Given the description of an element on the screen output the (x, y) to click on. 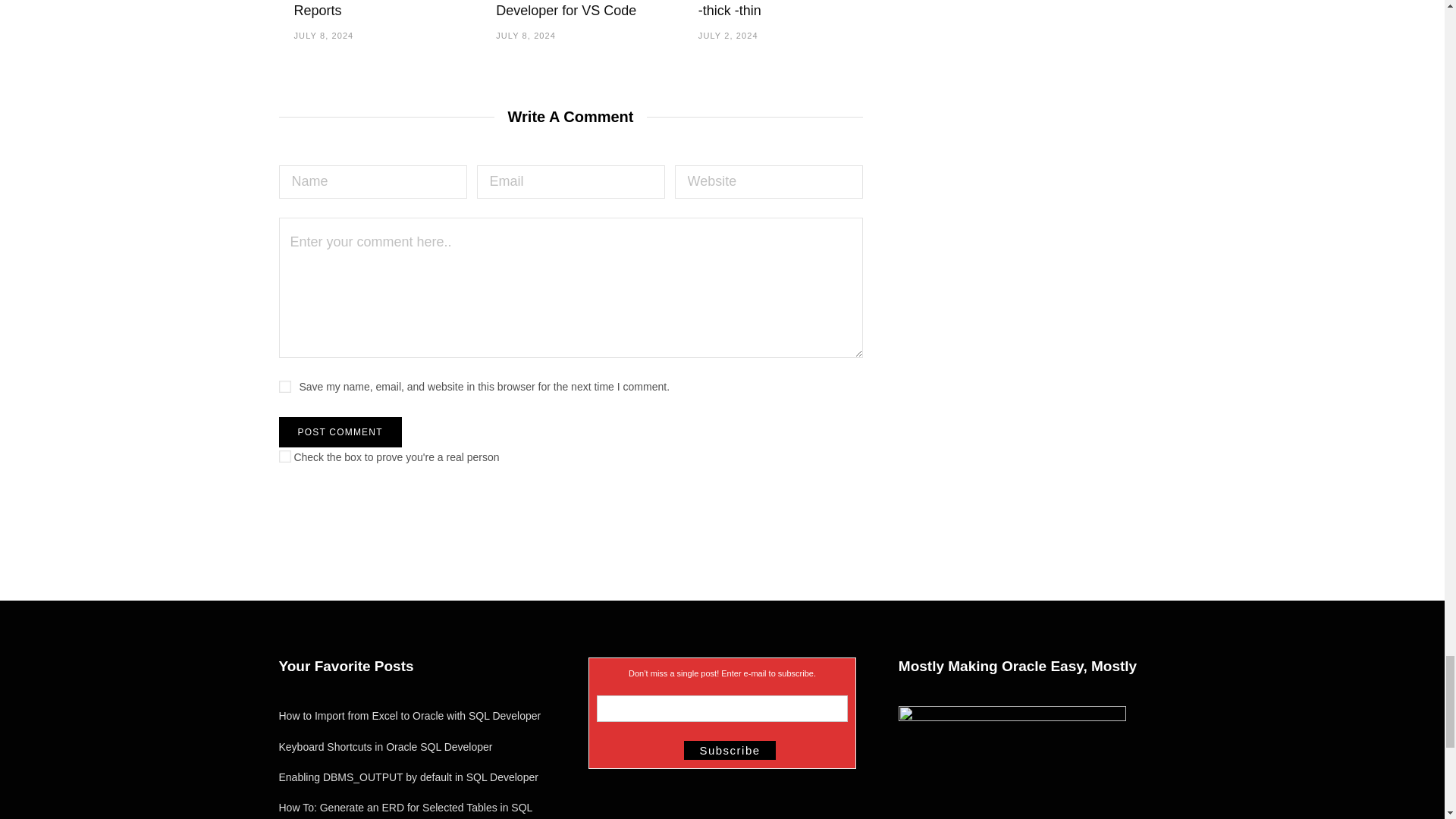
on (285, 456)
Subscribe (729, 750)
Post Comment (340, 431)
yes (285, 386)
